Given the description of an element on the screen output the (x, y) to click on. 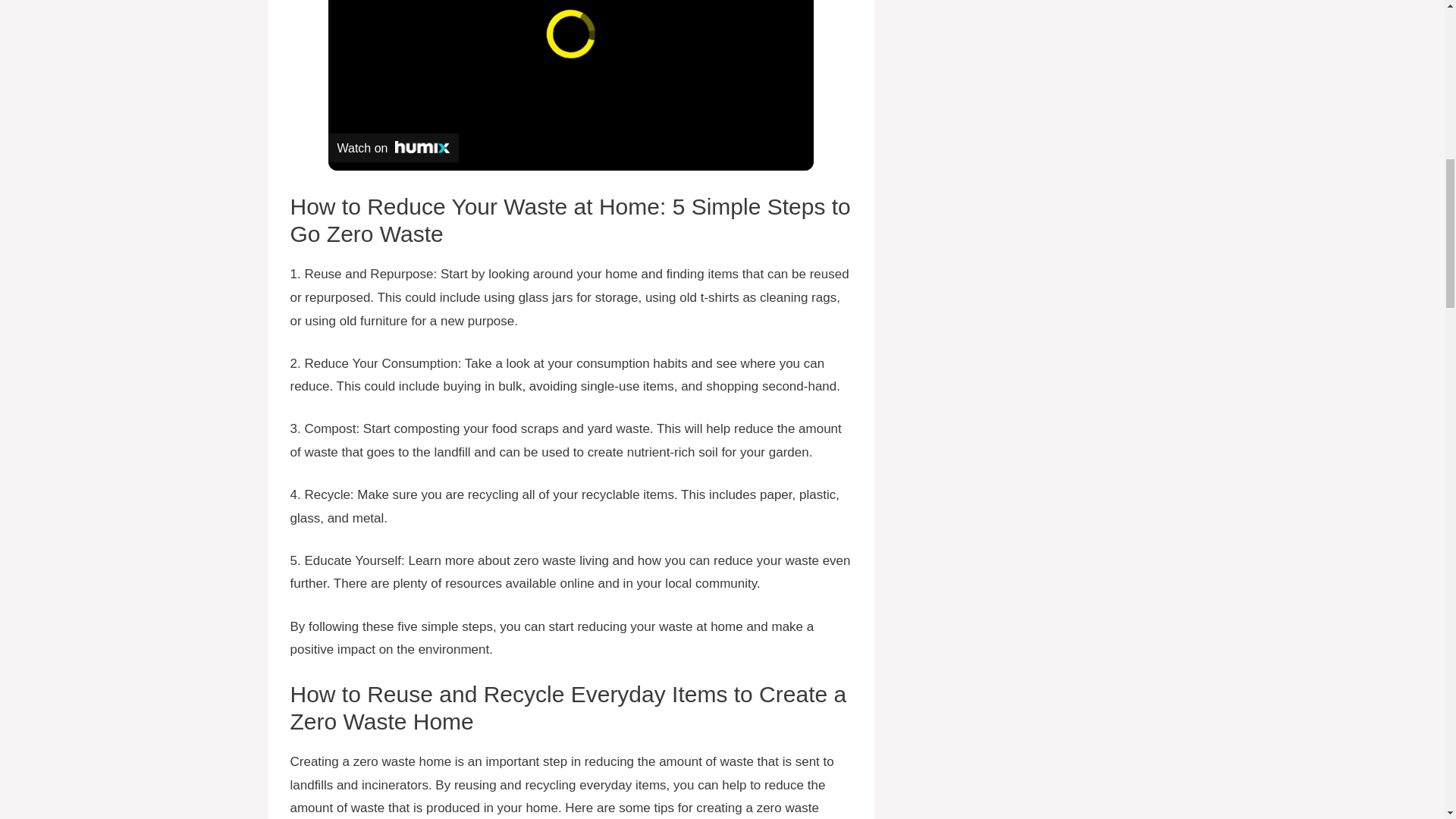
Watch on (392, 147)
